Given the description of an element on the screen output the (x, y) to click on. 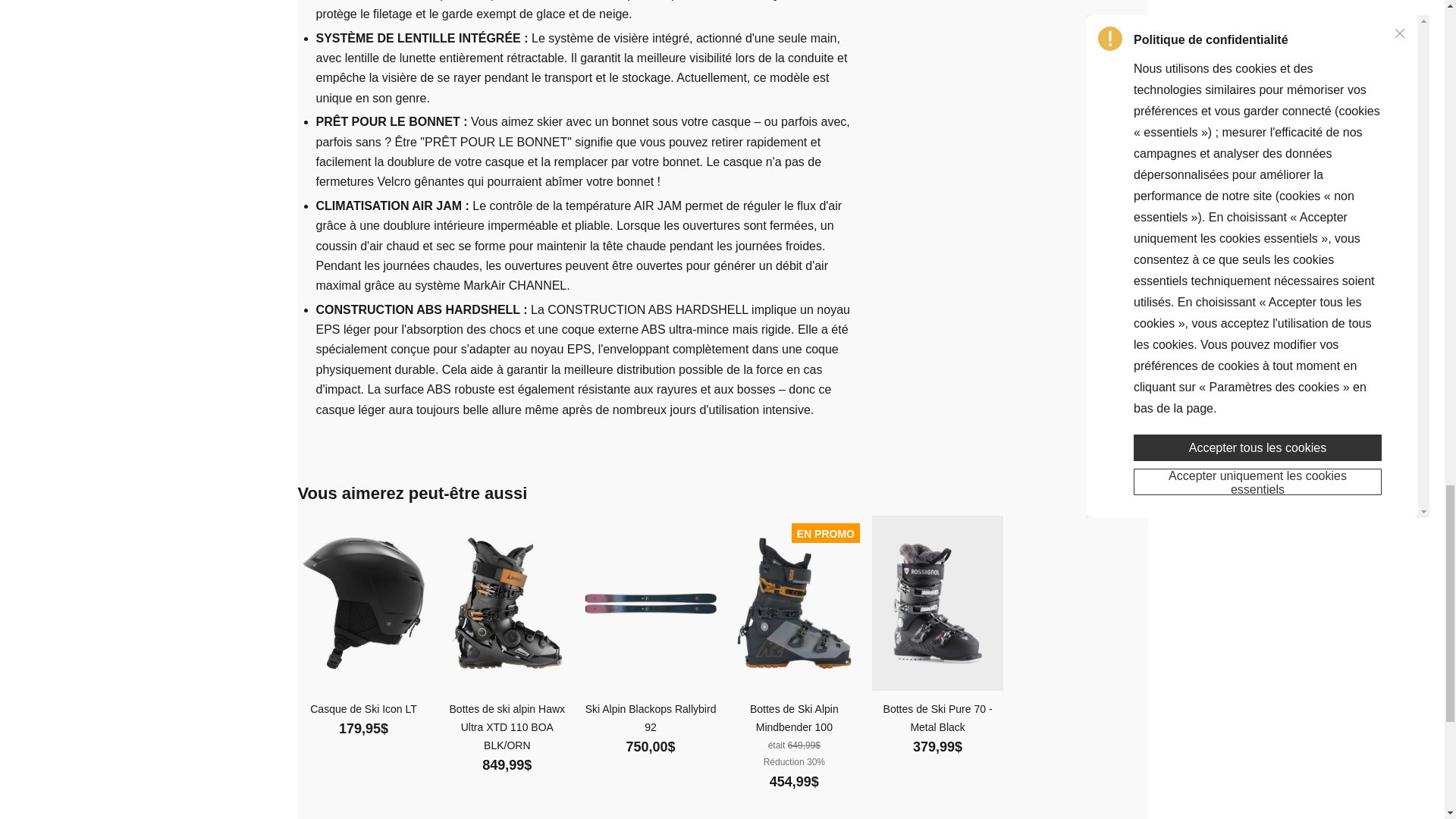
Bottes de Ski Alpin Mindbender 100 (794, 718)
Bottes de Ski Pure 70 - Metal Black (937, 603)
Ski Alpin Blackops Rallybird 92 (650, 603)
Casque de Ski Icon LT (363, 603)
Ski Alpin Blackops Rallybird 92 (650, 718)
Bottes de Ski Alpin Mindbender 100 (794, 603)
Casque de Ski Icon LT (363, 709)
